Given the description of an element on the screen output the (x, y) to click on. 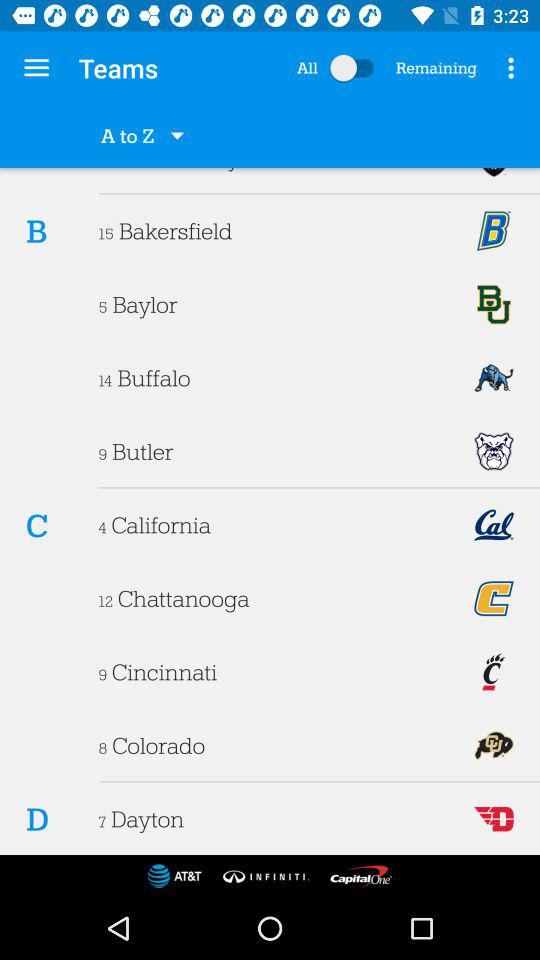
switch all/remaining option (356, 67)
